Given the description of an element on the screen output the (x, y) to click on. 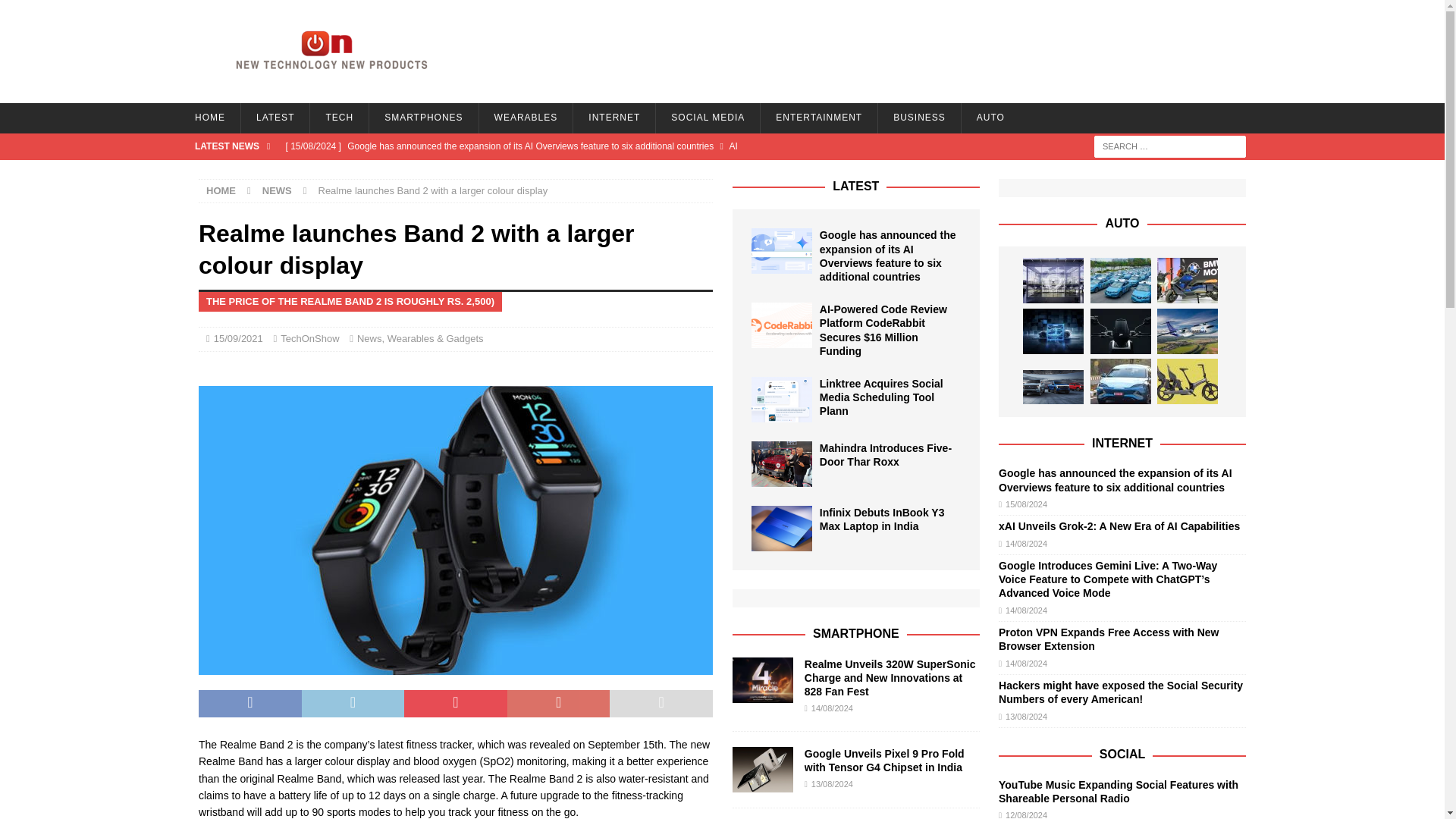
LATEST (274, 117)
ENTERTAINMENT (818, 117)
News (368, 337)
TechOnShow (310, 337)
NEWS (277, 190)
AUTO (990, 117)
INTERNET (613, 117)
WEARABLES (526, 117)
HOME (209, 117)
TECH (338, 117)
